Given the description of an element on the screen output the (x, y) to click on. 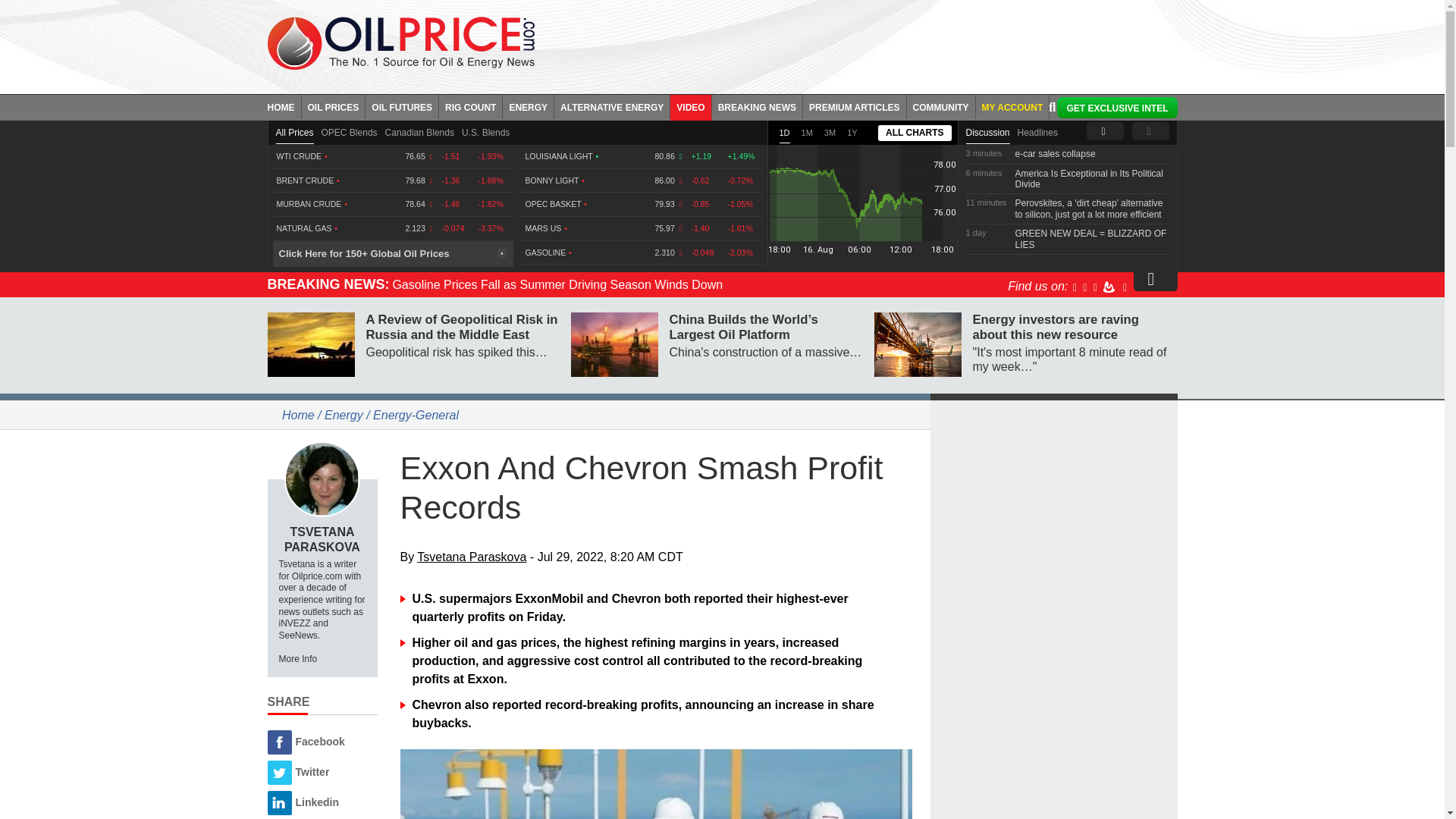
A Review of Geopolitical Risk in Russia and the Middle East (309, 344)
Offshore Chevron (656, 784)
RIG COUNT (470, 106)
ALTERNATIVE ENERGY (611, 106)
VIDEO (690, 106)
ENERGY (528, 106)
Tsvetana Paraskova (321, 478)
BREAKING NEWS (757, 106)
OIL PRICES (333, 106)
MY ACCOUNT (1012, 106)
